Given the description of an element on the screen output the (x, y) to click on. 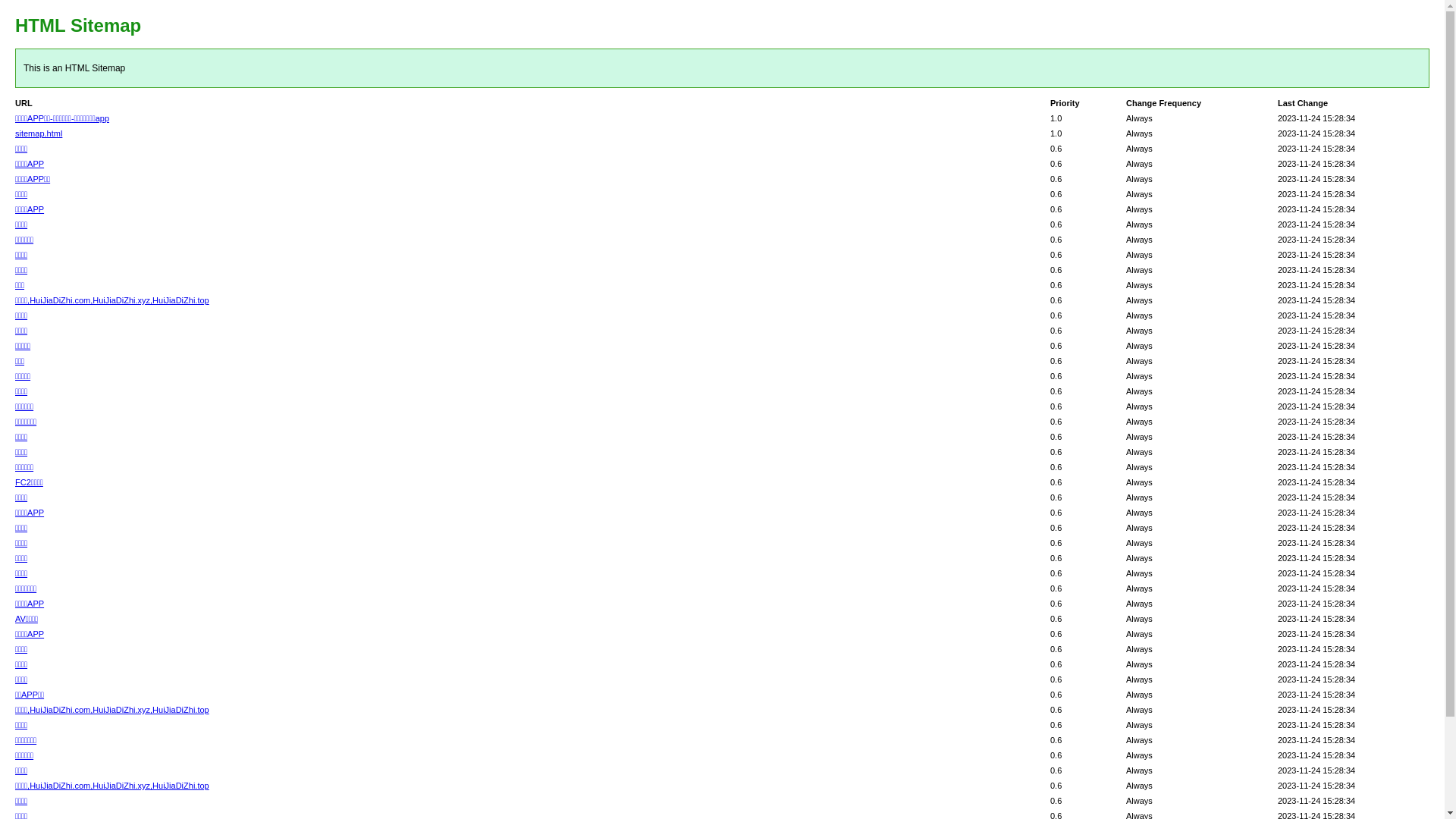
sitemap.html Element type: text (38, 133)
